Given the description of an element on the screen output the (x, y) to click on. 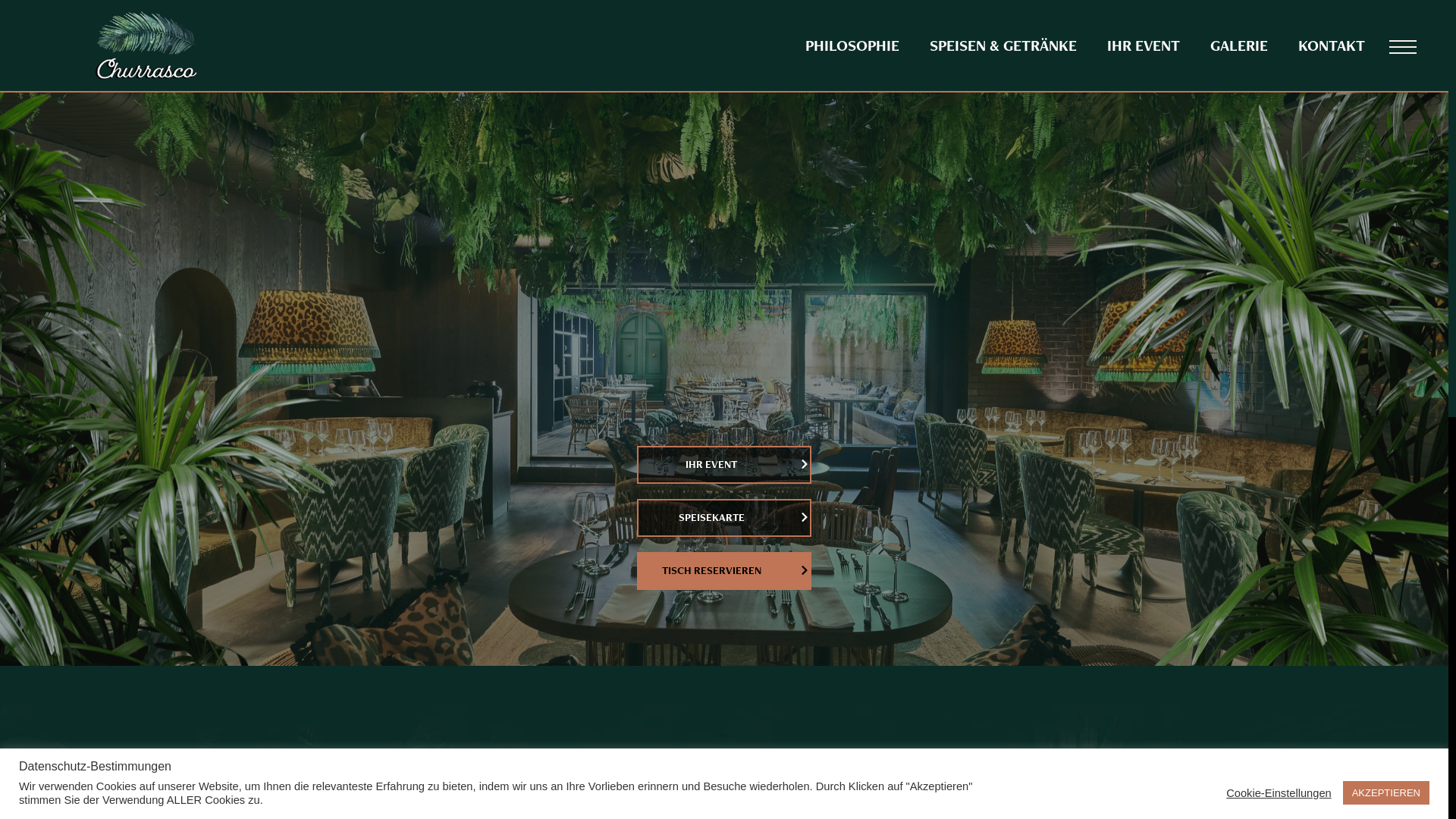
KONTAKT Element type: text (1331, 45)
GALERIE Element type: text (1239, 45)
IHR EVENT Element type: text (724, 464)
Cookie-Einstellungen Element type: text (1278, 792)
PHILOSOPHIE Element type: text (852, 45)
IHR EVENT Element type: text (1143, 45)
Churrasco-logo-small Element type: hover (146, 45)
TISCH RESERVIEREN Element type: text (724, 570)
SPEISEKARTE Element type: text (724, 517)
AKZEPTIEREN Element type: text (1386, 792)
